Given the description of an element on the screen output the (x, y) to click on. 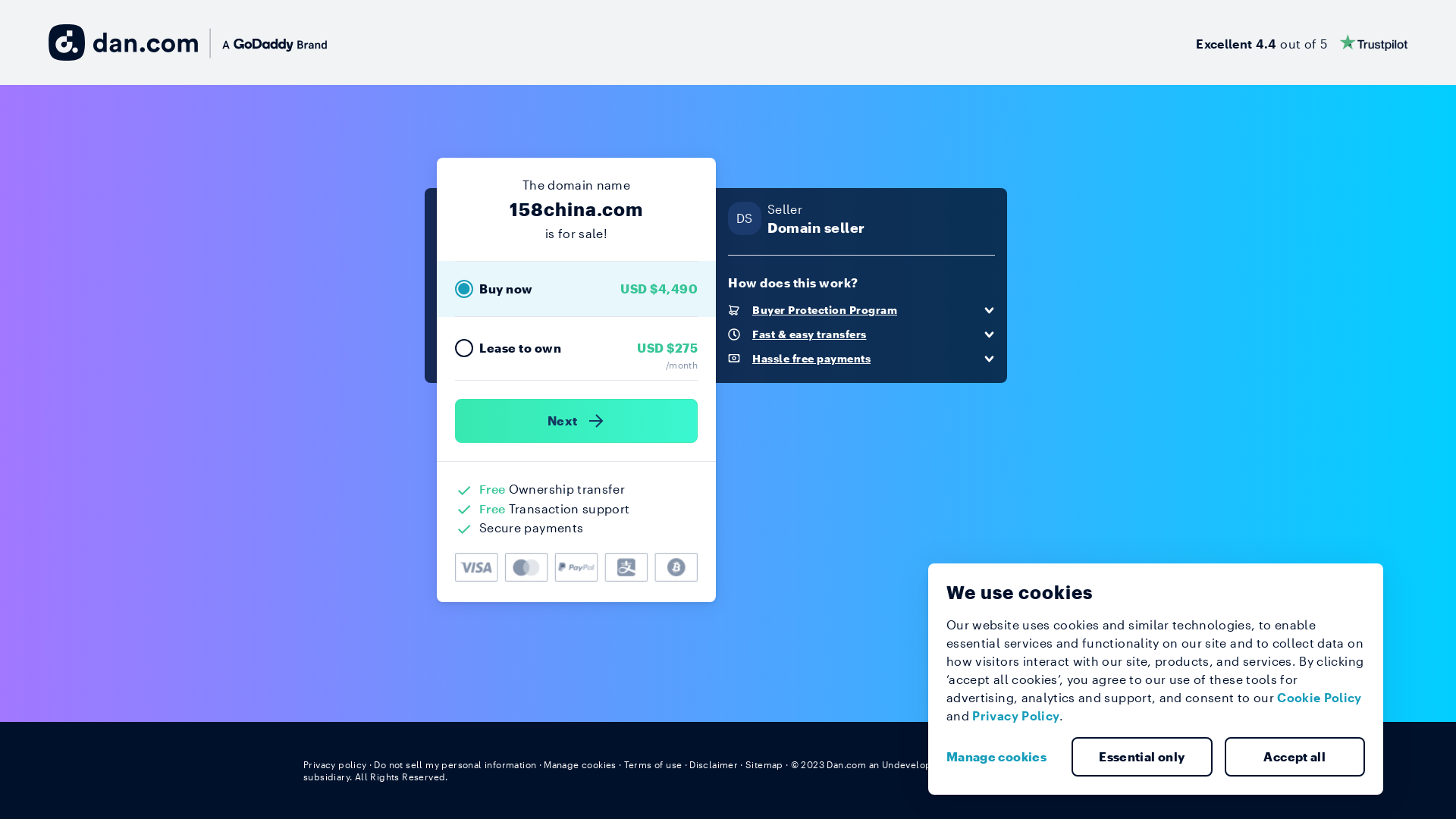
Cookie Policy Element type: text (1319, 697)
Next
) Element type: text (576, 420)
English Element type: text (1124, 764)
Privacy Policy Element type: text (1015, 715)
Do not sell my personal information Element type: text (454, 764)
Manage cookies Element type: text (1002, 756)
Manage cookies Element type: text (579, 764)
Essential only Element type: text (1141, 756)
Excellent 4.4 out of 5 Element type: text (1301, 42)
Accept all Element type: text (1294, 756)
Terms of use Element type: text (653, 764)
Privacy policy Element type: text (335, 764)
Disclaimer Element type: text (713, 764)
Sitemap Element type: text (764, 764)
